Given the description of an element on the screen output the (x, y) to click on. 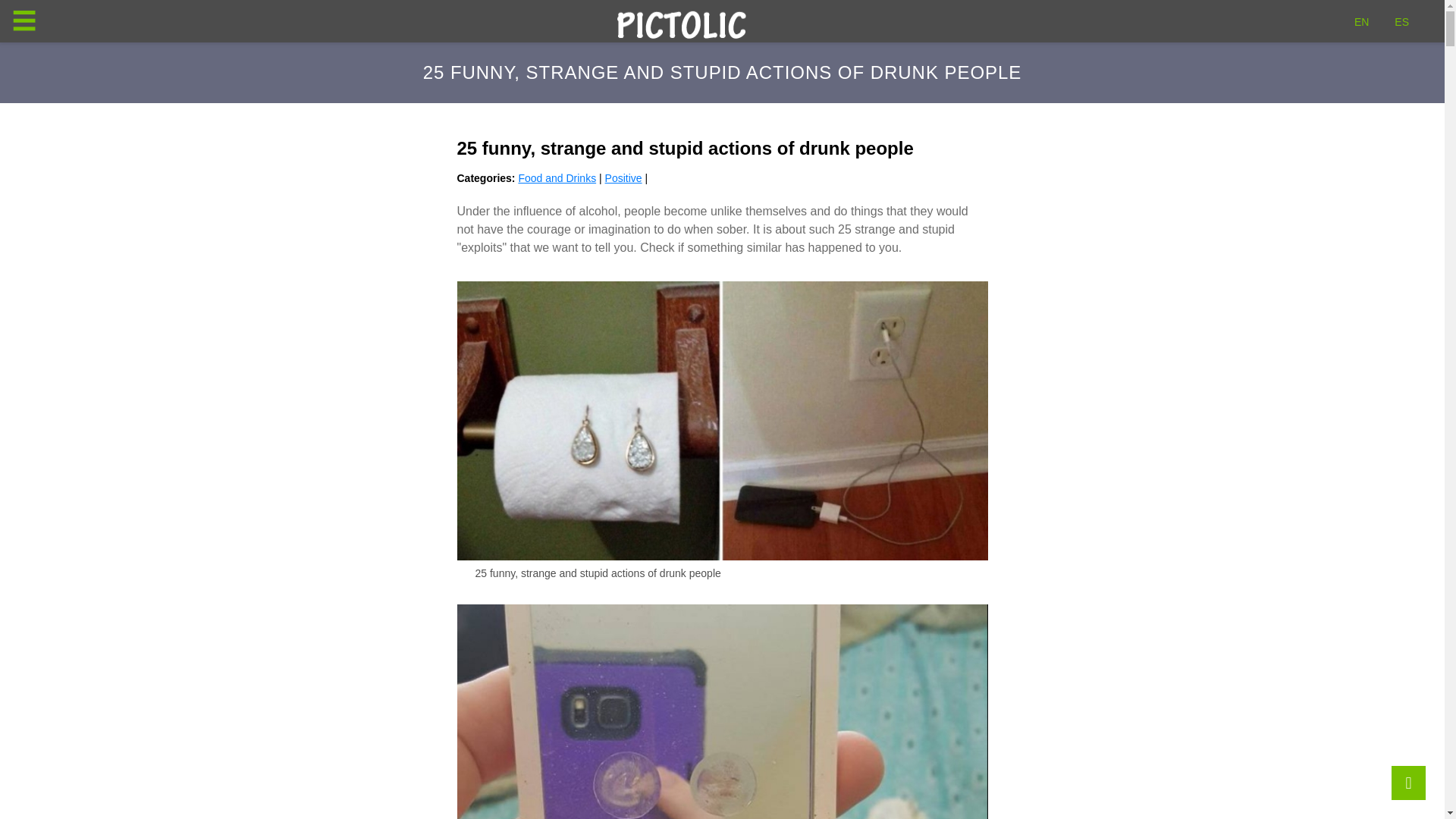
Positive (623, 177)
ES (1401, 21)
Food and Drinks (556, 177)
EN (1361, 21)
